Given the description of an element on the screen output the (x, y) to click on. 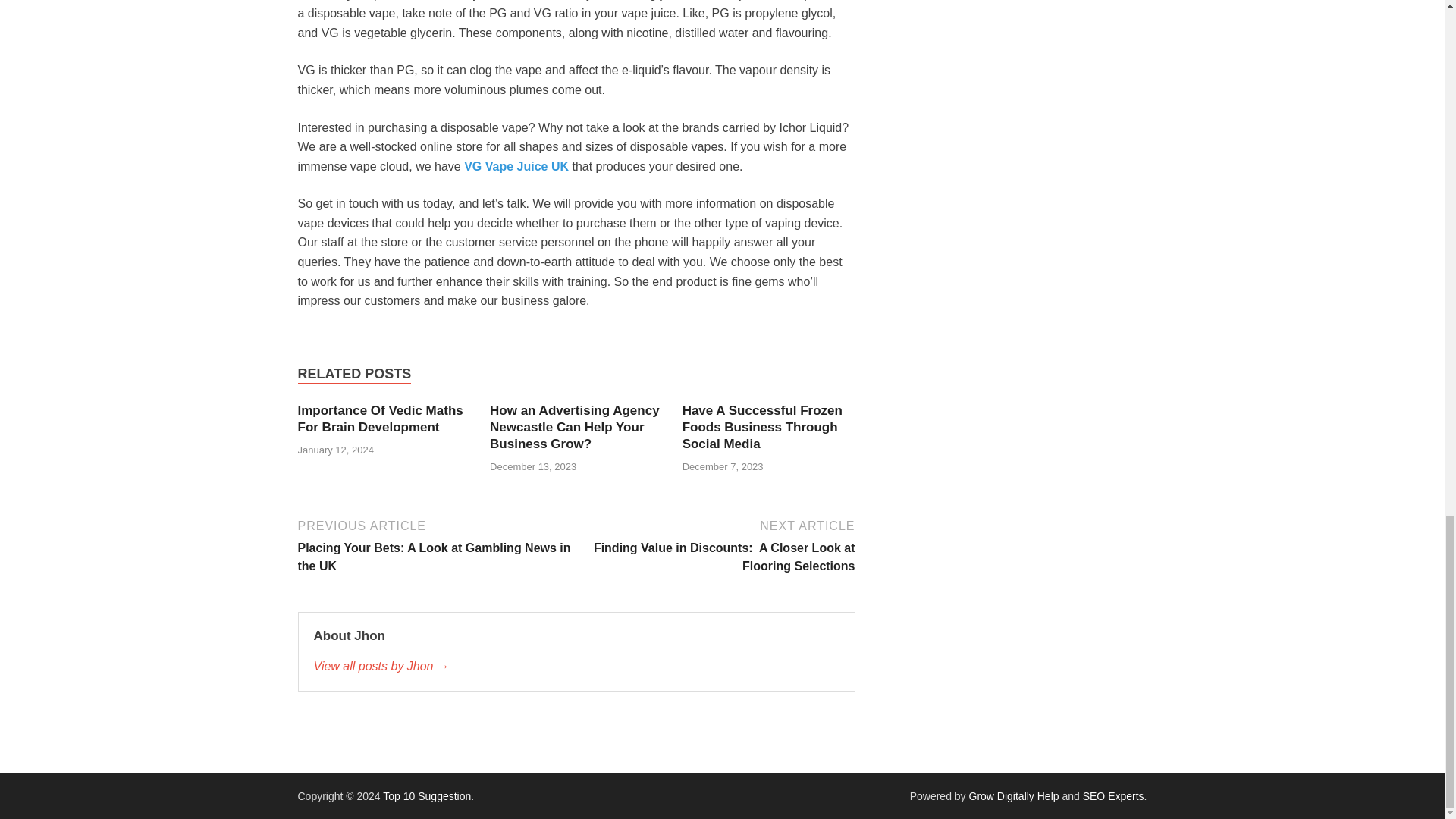
Grow Digitally Help (1014, 796)
SEO Experts (1113, 796)
Importance Of Vedic Maths For Brain Development (380, 418)
Jhon (577, 666)
VG Vape Juice UK (516, 165)
